Given the description of an element on the screen output the (x, y) to click on. 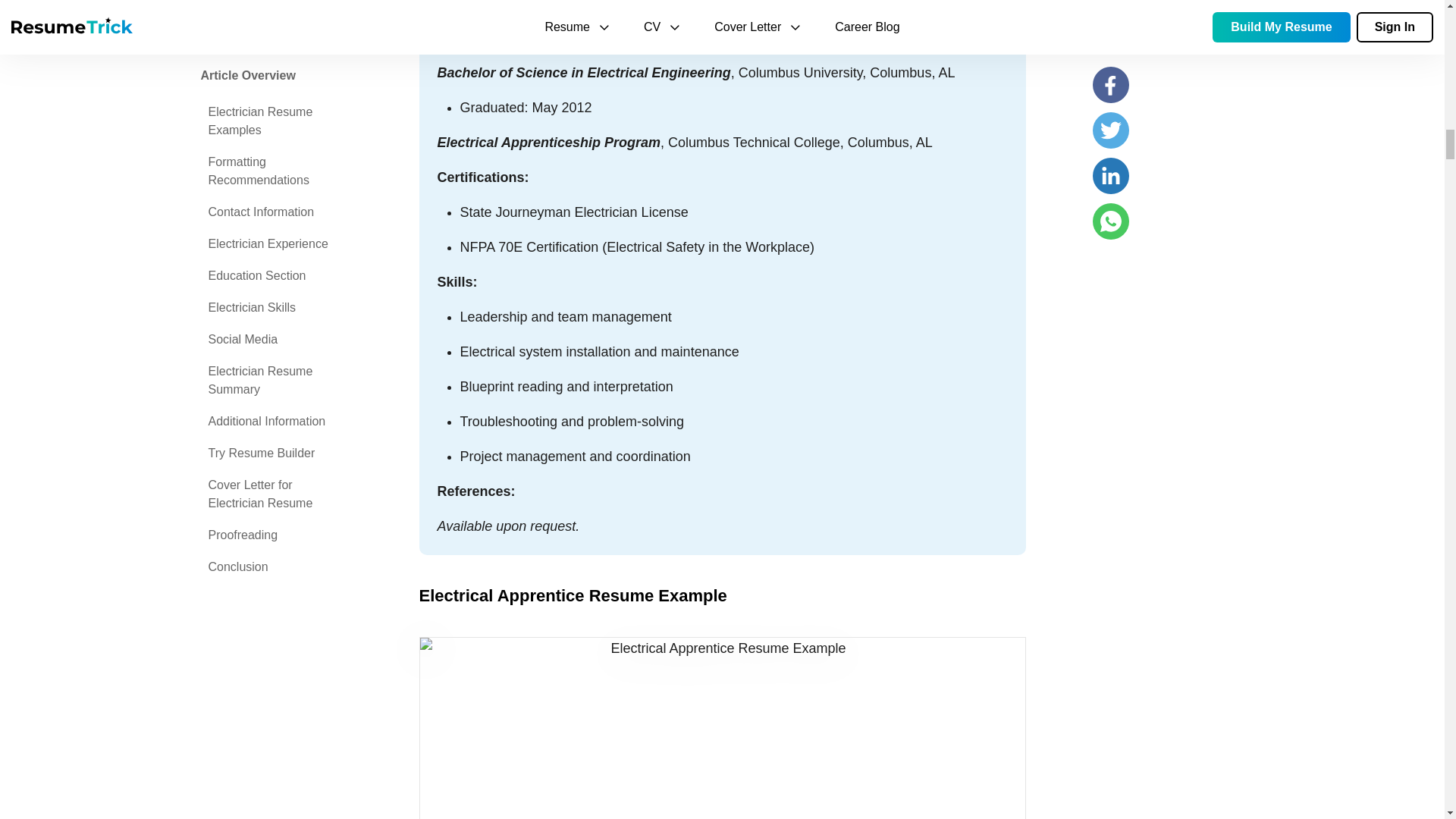
Electrical Apprentice Resume Example (722, 728)
